Given the description of an element on the screen output the (x, y) to click on. 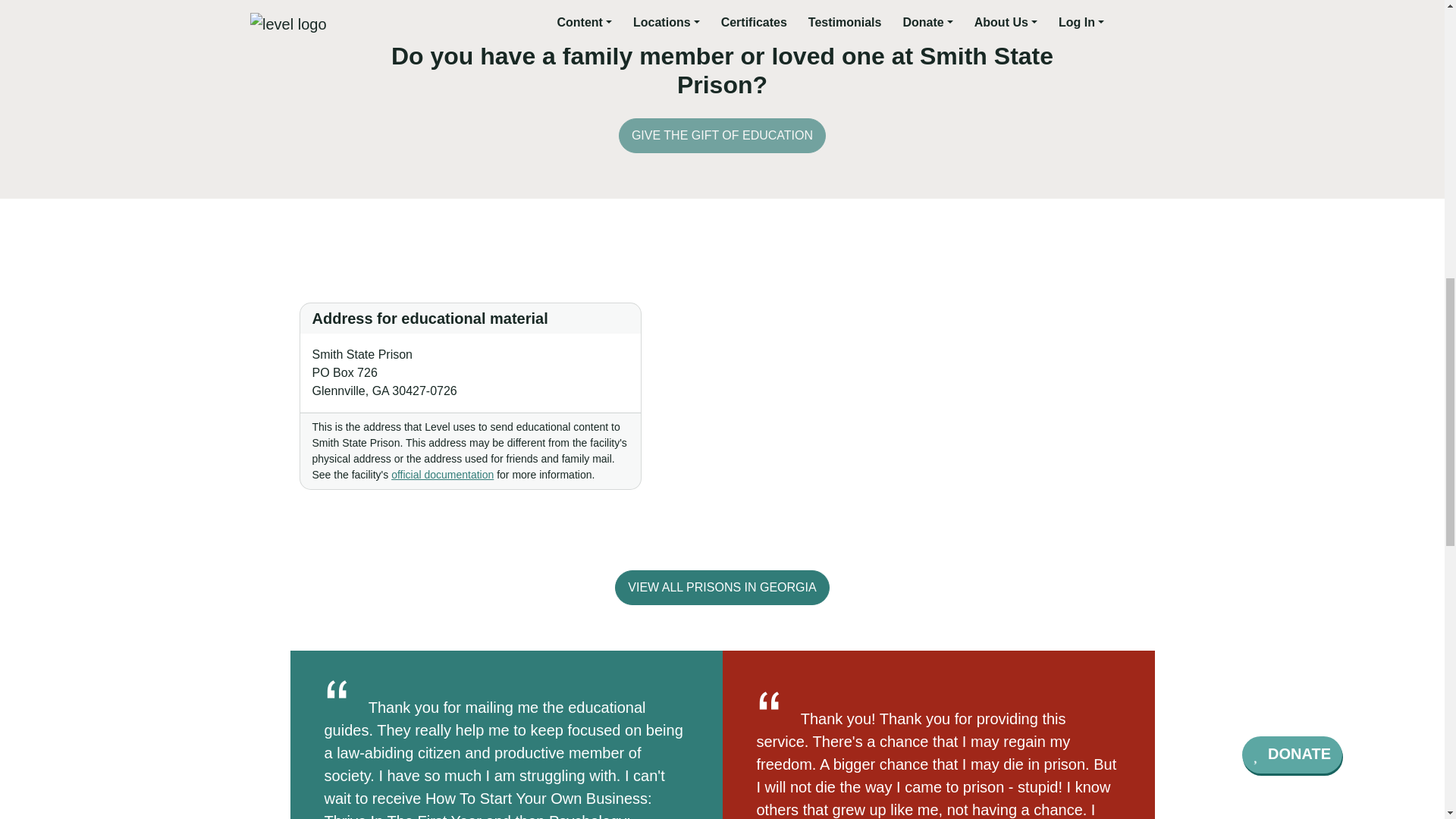
official documentation (442, 474)
VIEW ALL PRISONS IN GEORGIA (721, 587)
GIVE THE GIFT OF EDUCATION (721, 135)
